Given the description of an element on the screen output the (x, y) to click on. 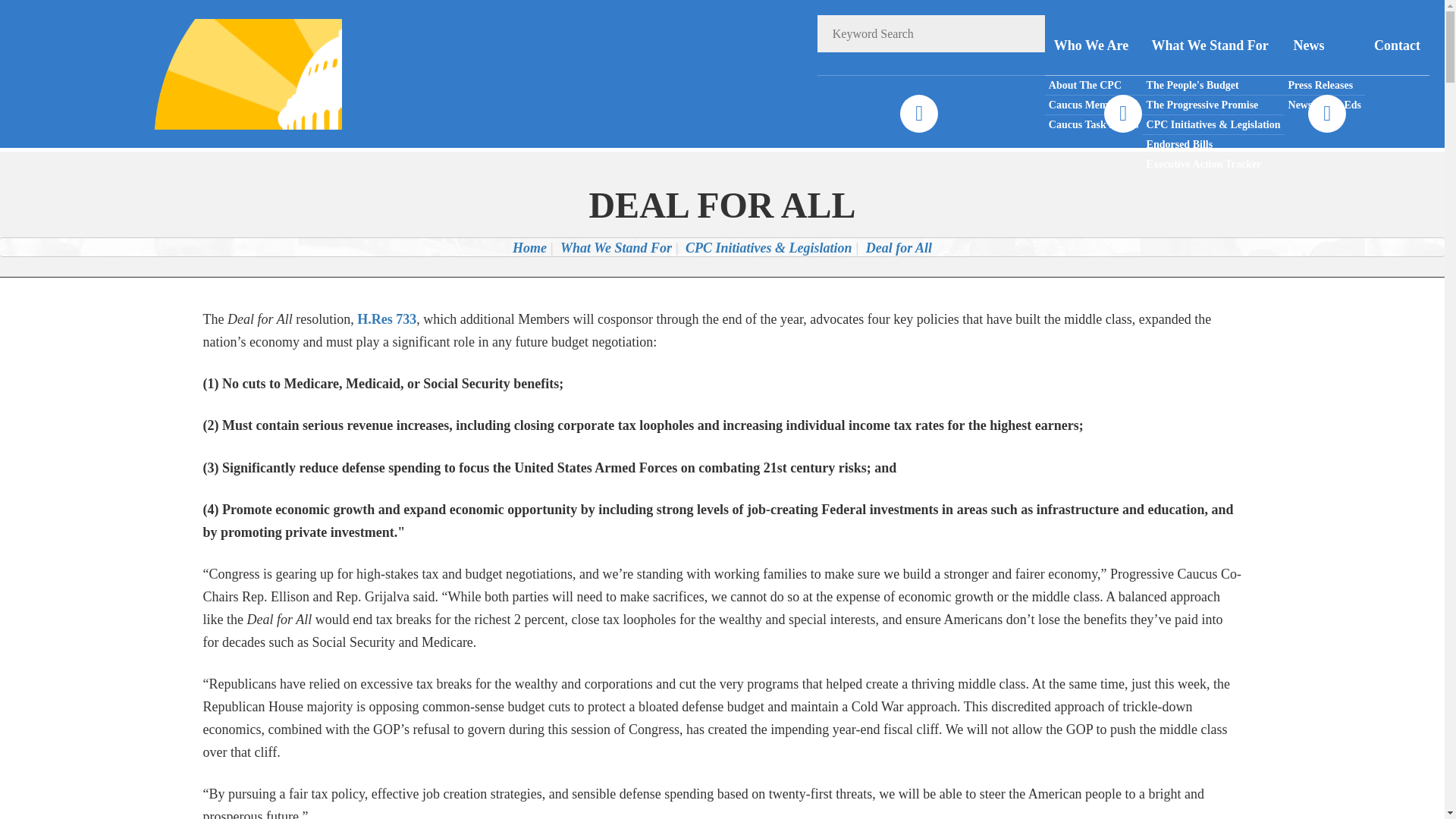
Twitter (1122, 113)
The Progressive Promise (1213, 105)
H.Res 733 (386, 319)
Home (529, 247)
Go (1026, 33)
Who We Are (1093, 45)
Executive Action Tracker (1213, 163)
What We Stand For (1213, 45)
News (1324, 45)
The People's Budget (1213, 85)
YouTube (1326, 113)
About The CPC (1093, 85)
DEAL FOR ALL (722, 205)
Contact (1397, 45)
Facebook (918, 113)
